Given the description of an element on the screen output the (x, y) to click on. 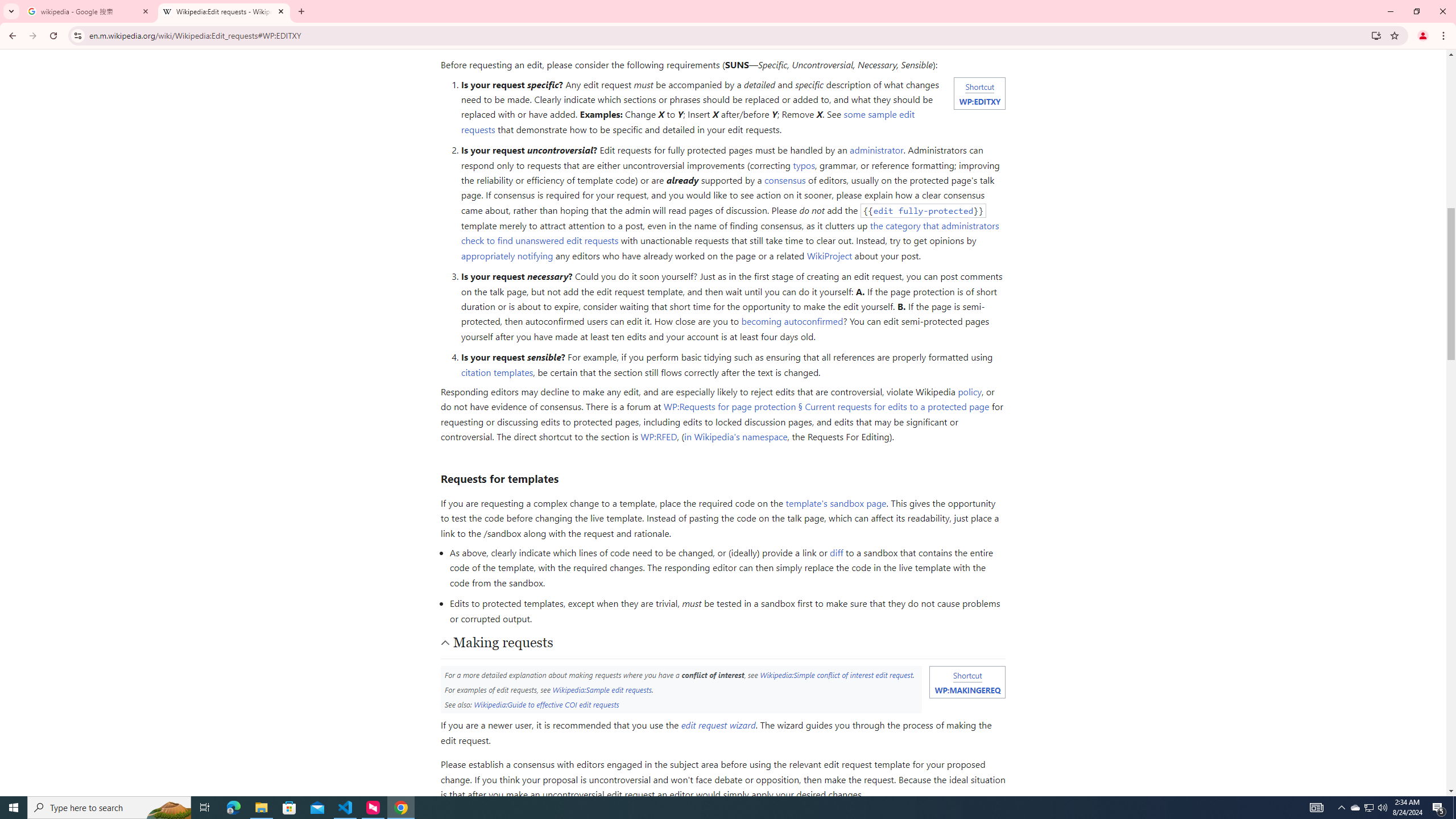
consensus (785, 179)
Address and search bar (726, 35)
Restore (1416, 11)
diff (836, 552)
in Wikipedia's namespace (735, 436)
Wikipedia:Guide to effective COI edit requests (545, 703)
You (1422, 35)
Bookmark this tab (1393, 35)
Search tabs (10, 11)
becoming autoconfirmed (792, 321)
appropriately notifying (506, 254)
Install Wikipedia (1376, 35)
